Given the description of an element on the screen output the (x, y) to click on. 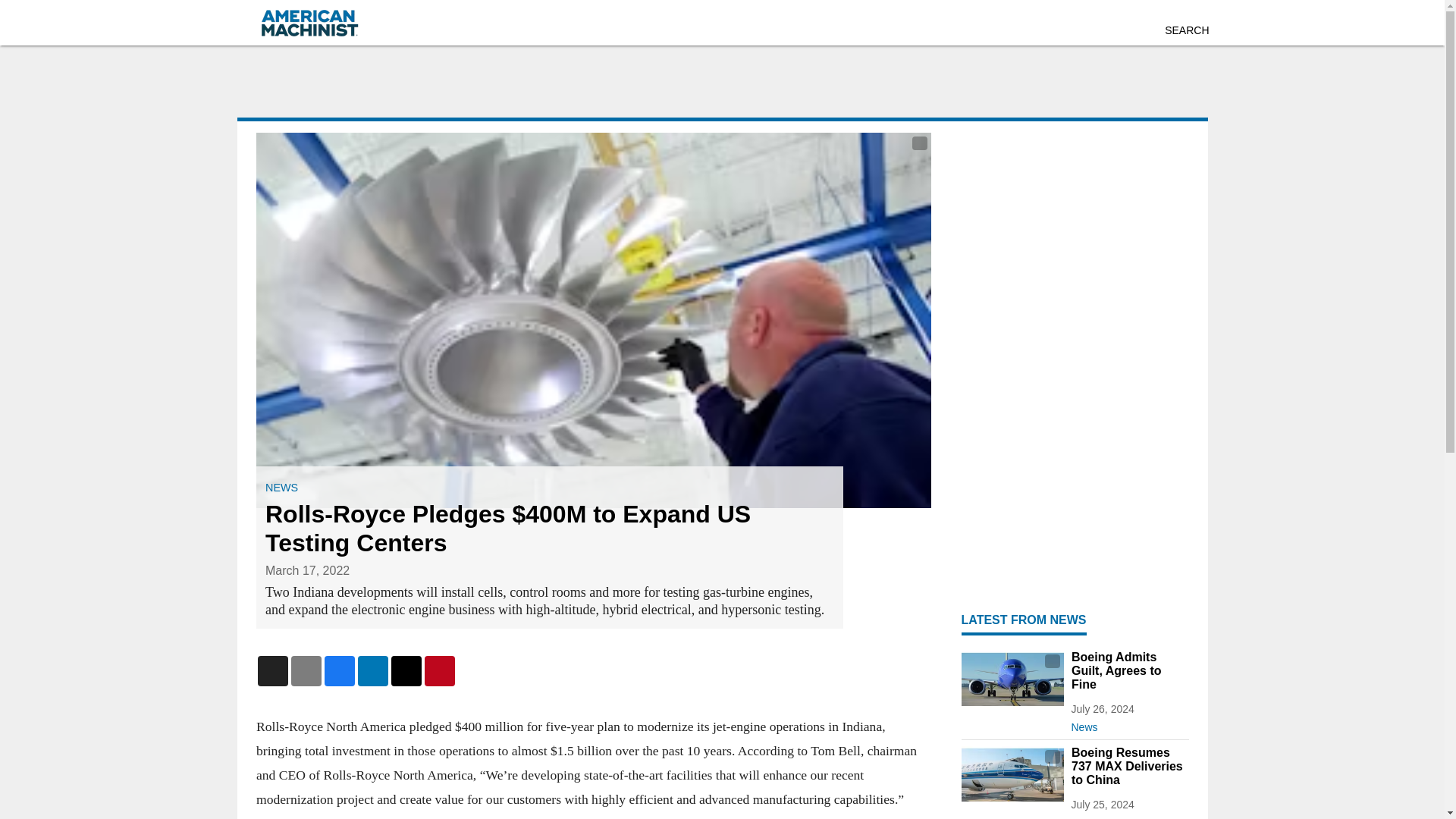
News (1129, 814)
Boeing Resumes 737 MAX Deliveries to China (1129, 766)
Boeing Admits Guilt, Agrees to Fine (1129, 670)
News (1129, 723)
NEWS (281, 487)
SEARCH (1186, 30)
